Given the description of an element on the screen output the (x, y) to click on. 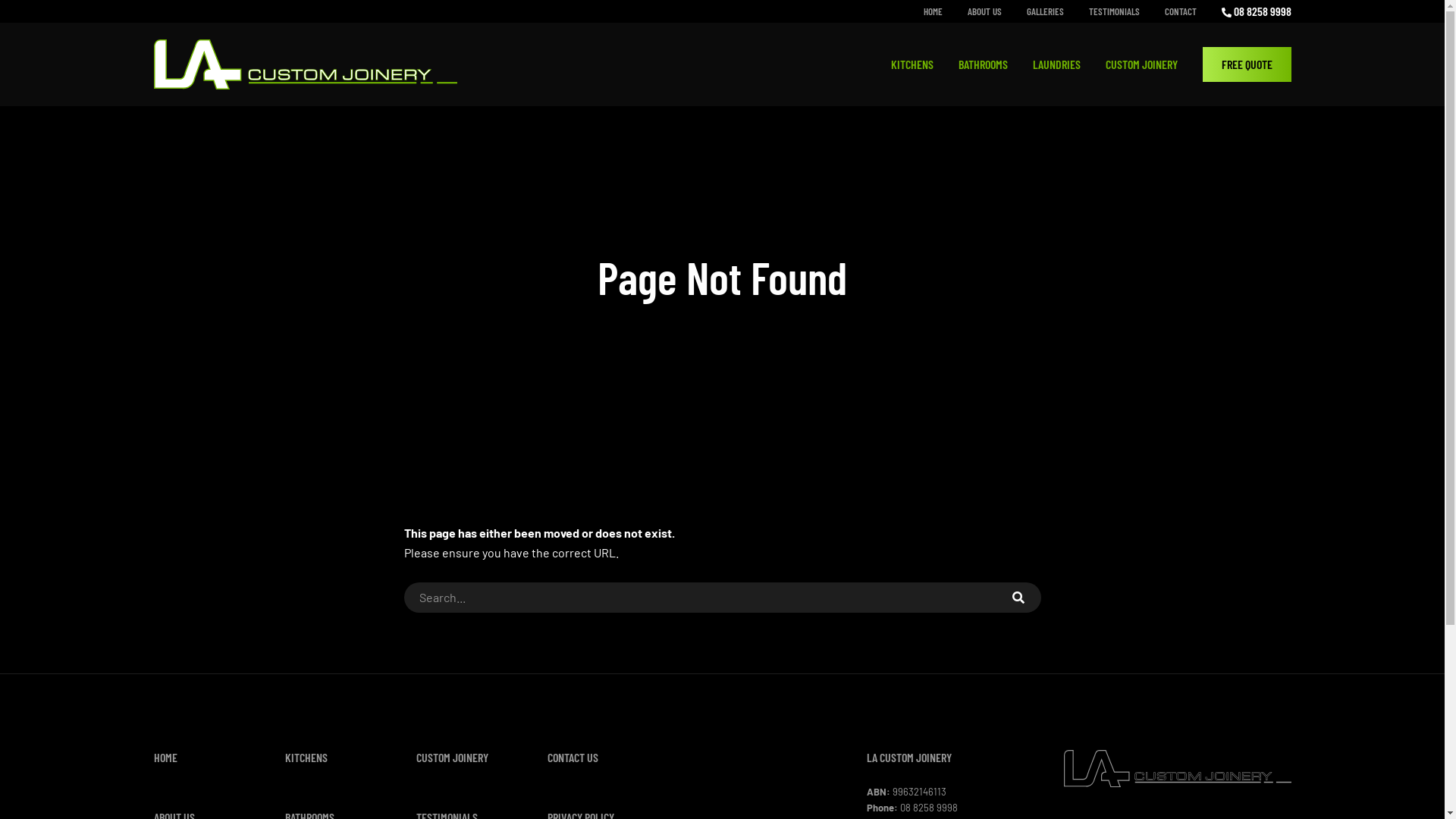
HOME Element type: text (164, 756)
LAUNDRIES Element type: text (1056, 63)
BATHROOMS Element type: text (982, 63)
CUSTOM JOINERY Element type: text (1141, 63)
ABOUT US Element type: text (984, 11)
08 8258 9998 Element type: text (1255, 10)
08 8258 9998 Element type: text (928, 807)
TESTIMONIALS Element type: text (1113, 11)
FREE QUOTE Element type: text (1246, 64)
HOME Element type: text (932, 11)
GALLERIES Element type: text (1044, 11)
CUSTOM JOINERY Element type: text (452, 756)
KITCHENS Element type: text (306, 756)
CONTACT Element type: text (1180, 11)
CONTACT US Element type: text (572, 756)
KITCHENS Element type: text (911, 63)
